Given the description of an element on the screen output the (x, y) to click on. 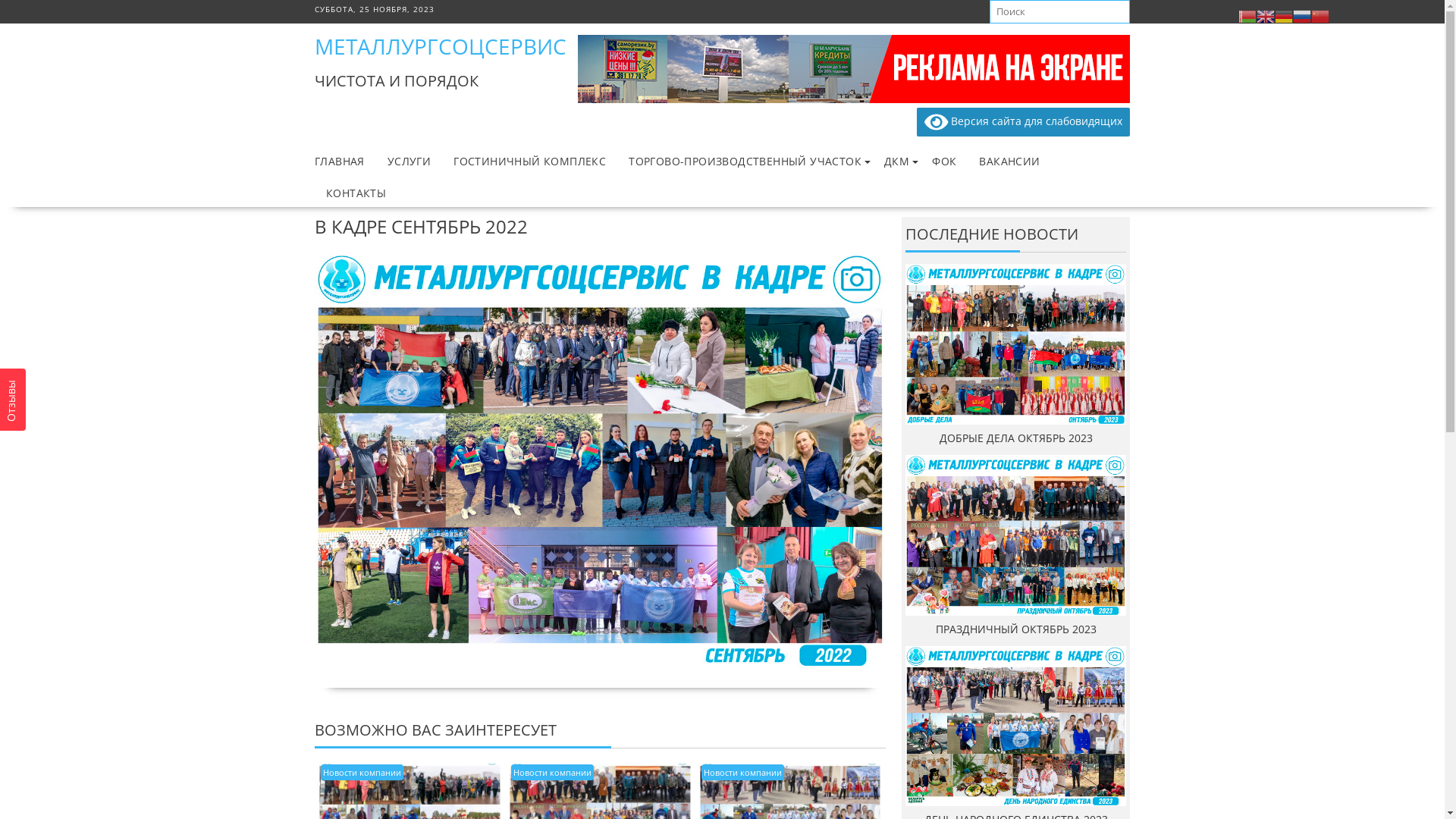
Skip to content Element type: text (0, 0)
Deutsch Element type: hover (1283, 15)
English Element type: hover (1265, 15)
